Given the description of an element on the screen output the (x, y) to click on. 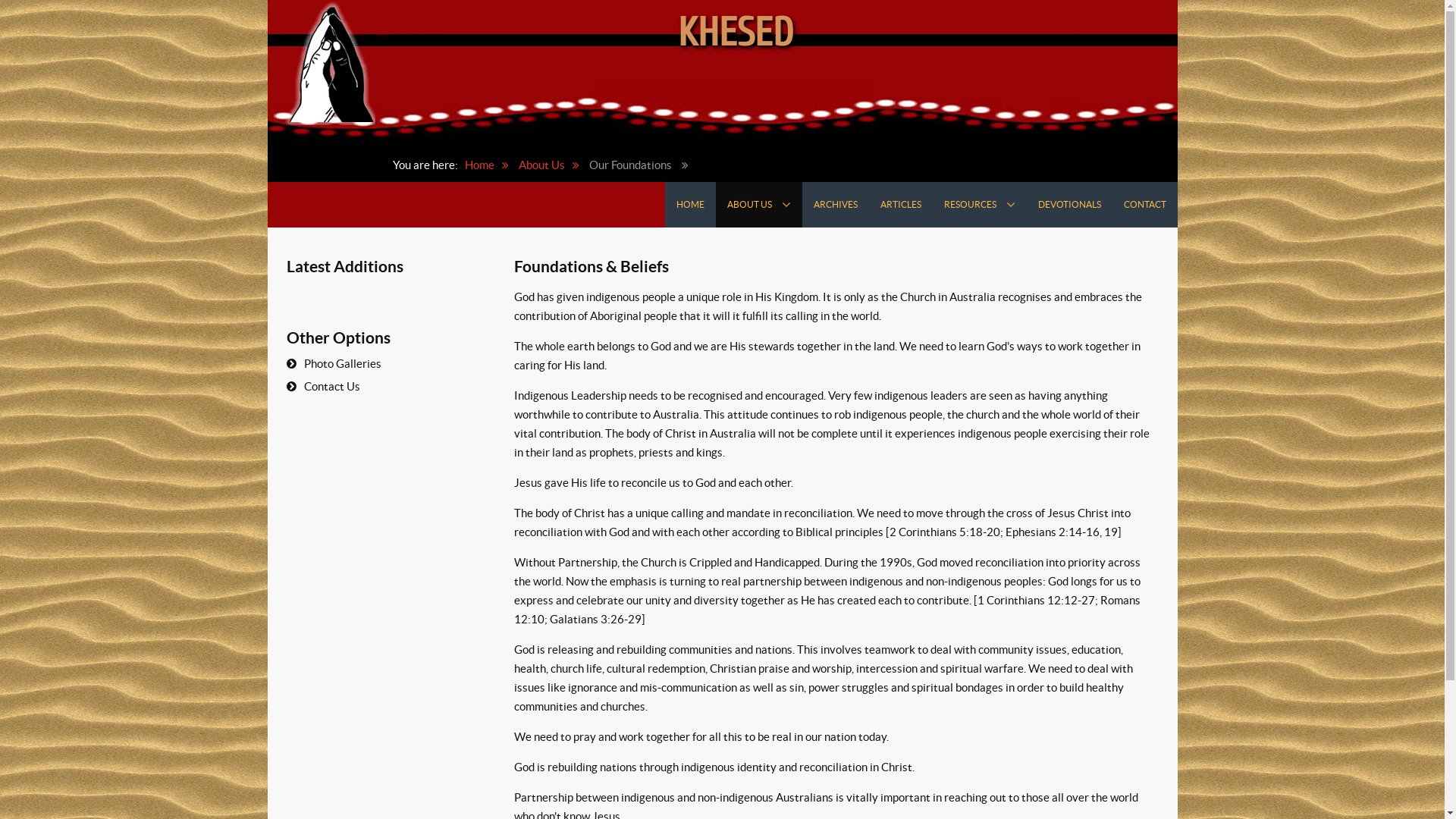
ABOUT US Element type: text (758, 204)
Photo Galleries Element type: text (380, 363)
ARCHIVES Element type: text (835, 204)
CONTACT Element type: text (1143, 204)
HOME Element type: text (689, 204)
DEVOTIONALS Element type: text (1069, 204)
RESOURCES Element type: text (979, 204)
Home Element type: text (489, 164)
ARTICLES Element type: text (900, 204)
Contact Us Element type: text (380, 385)
About Us Element type: text (552, 164)
